Given the description of an element on the screen output the (x, y) to click on. 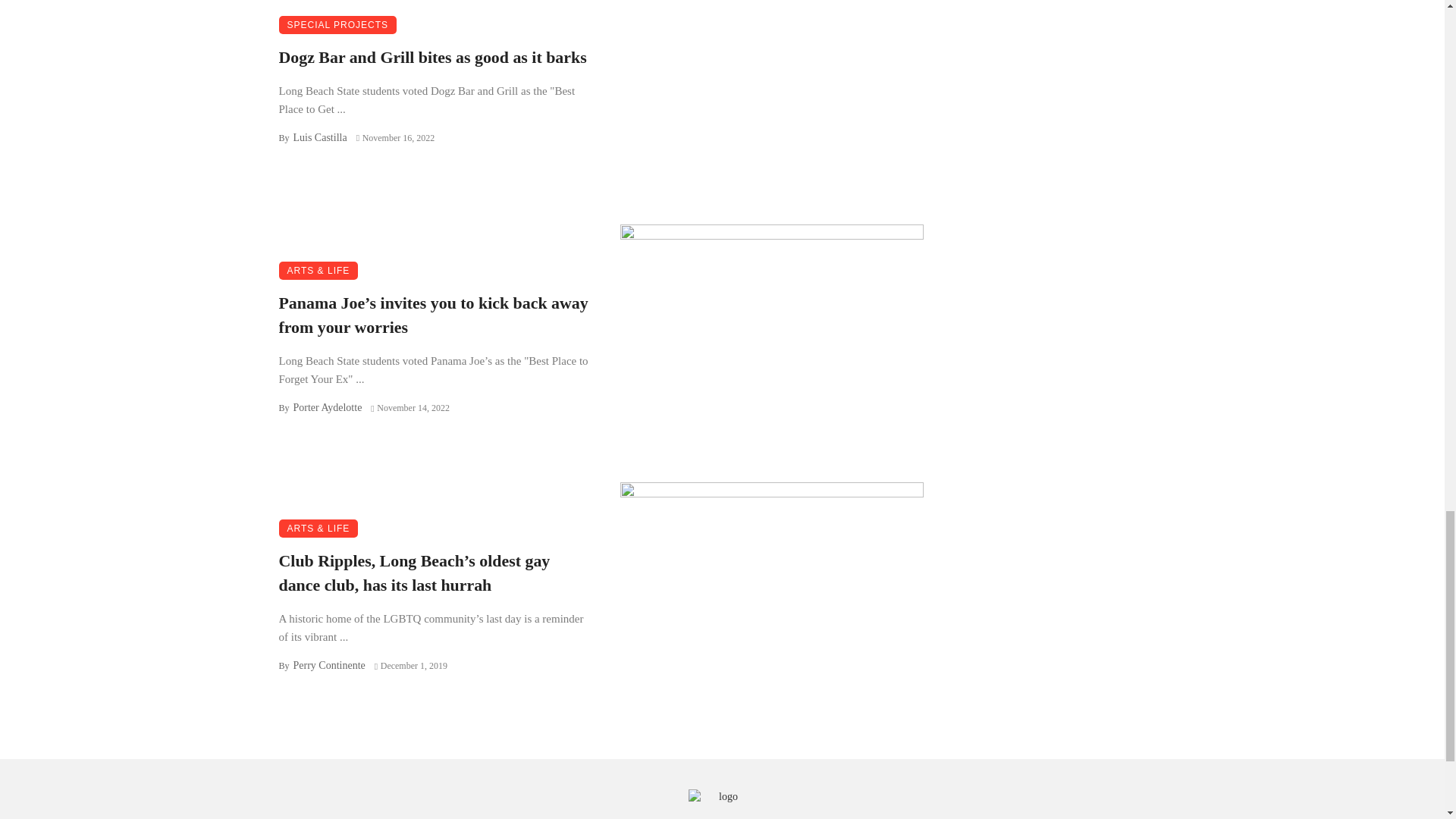
November 14, 2022 at 11:46 pm (410, 407)
Dogz Bar and Grill bites as good as it barks (432, 57)
December 1, 2019 at 4:41 pm (410, 665)
SPECIAL PROJECTS (338, 24)
November 16, 2022 at 11:54 am (395, 137)
